Given the description of an element on the screen output the (x, y) to click on. 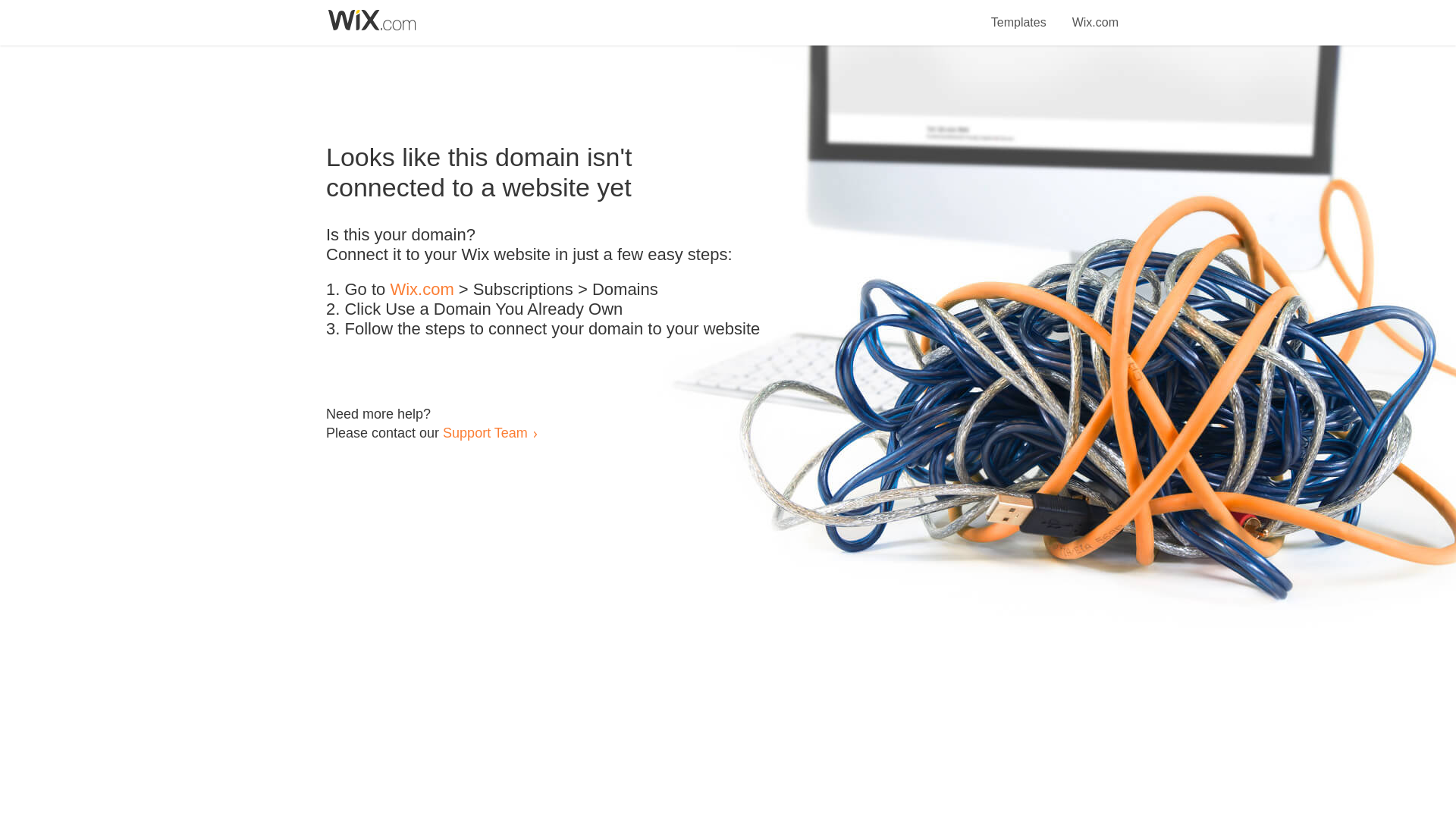
Templates (1018, 14)
Support Team (484, 432)
Wix.com (421, 289)
Wix.com (1095, 14)
